Given the description of an element on the screen output the (x, y) to click on. 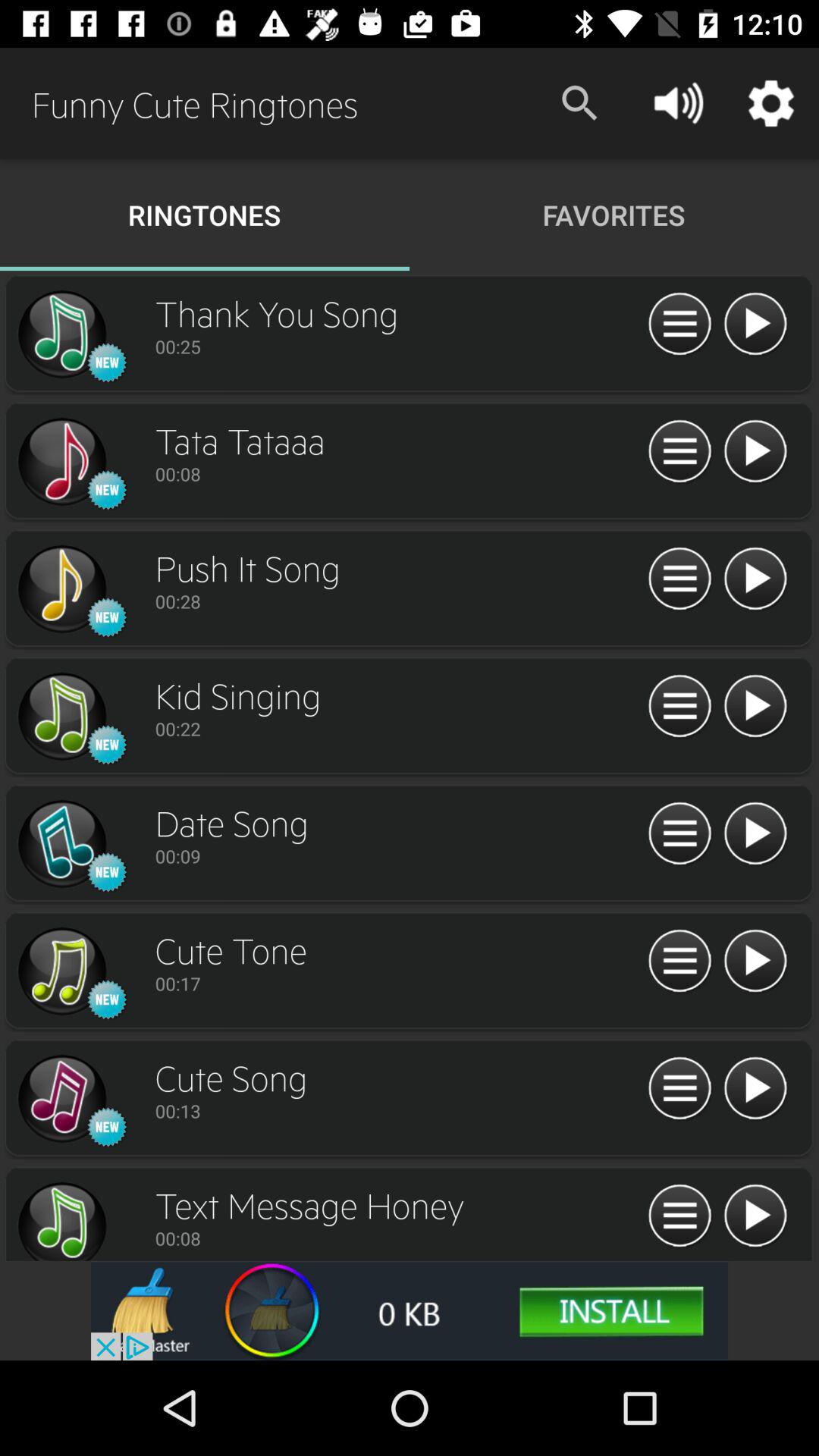
options (679, 579)
